Given the description of an element on the screen output the (x, y) to click on. 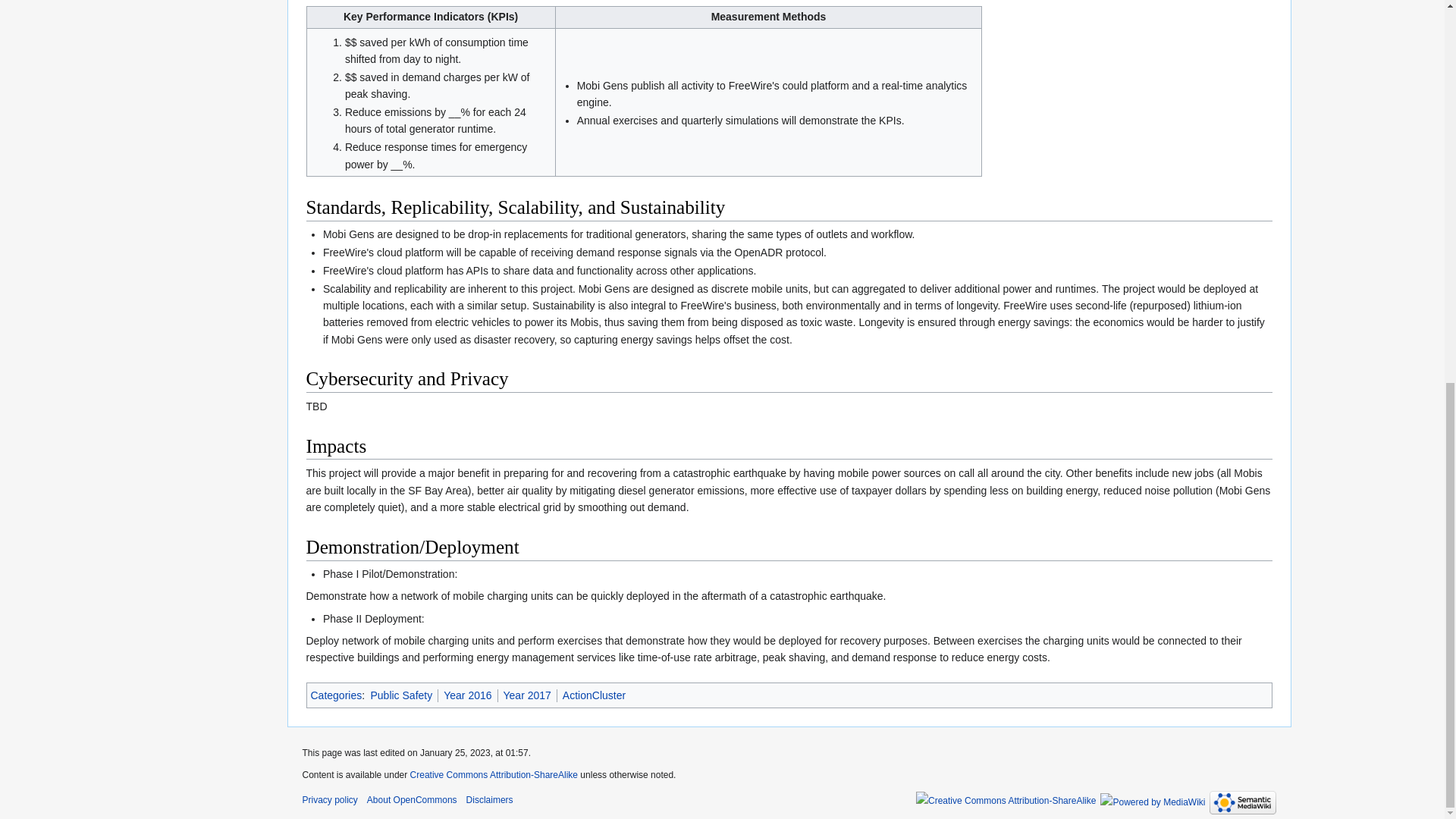
Year 2017 (527, 695)
Category:ActionCluster (594, 695)
Category:Year 2017 (527, 695)
Year 2016 (468, 695)
Category:Year 2016 (468, 695)
ActionCluster (594, 695)
Special:Categories (336, 695)
Category:Public Safety (400, 695)
Categories (336, 695)
Public Safety (400, 695)
